Given the description of an element on the screen output the (x, y) to click on. 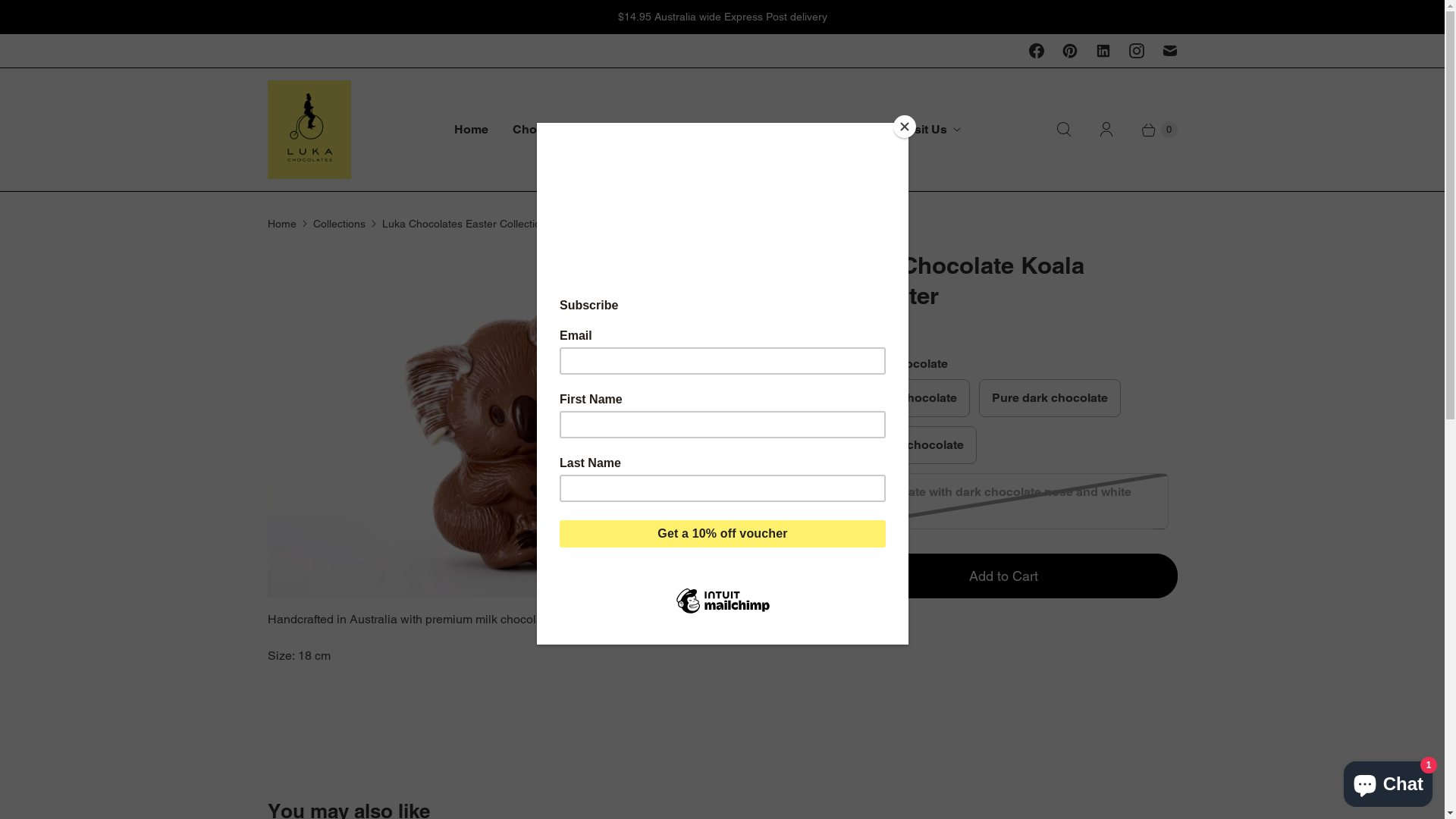
Home Element type: text (470, 129)
Shopify online store chat Element type: hover (1388, 780)
Large Chocolate Koala Character Element type: hover (527, 423)
$14.95 Australia wide Express Post delivery Element type: text (722, 17)
Home Element type: text (280, 224)
Add to Cart Element type: text (1003, 575)
Chocolate Gifts Element type: text (563, 129)
Delivery Element type: text (761, 129)
0 Element type: text (1151, 129)
Occasions Element type: text (675, 129)
Visit Us Element type: text (931, 129)
Our Story Element type: text (844, 129)
Collections Element type: text (338, 224)
